Given the description of an element on the screen output the (x, y) to click on. 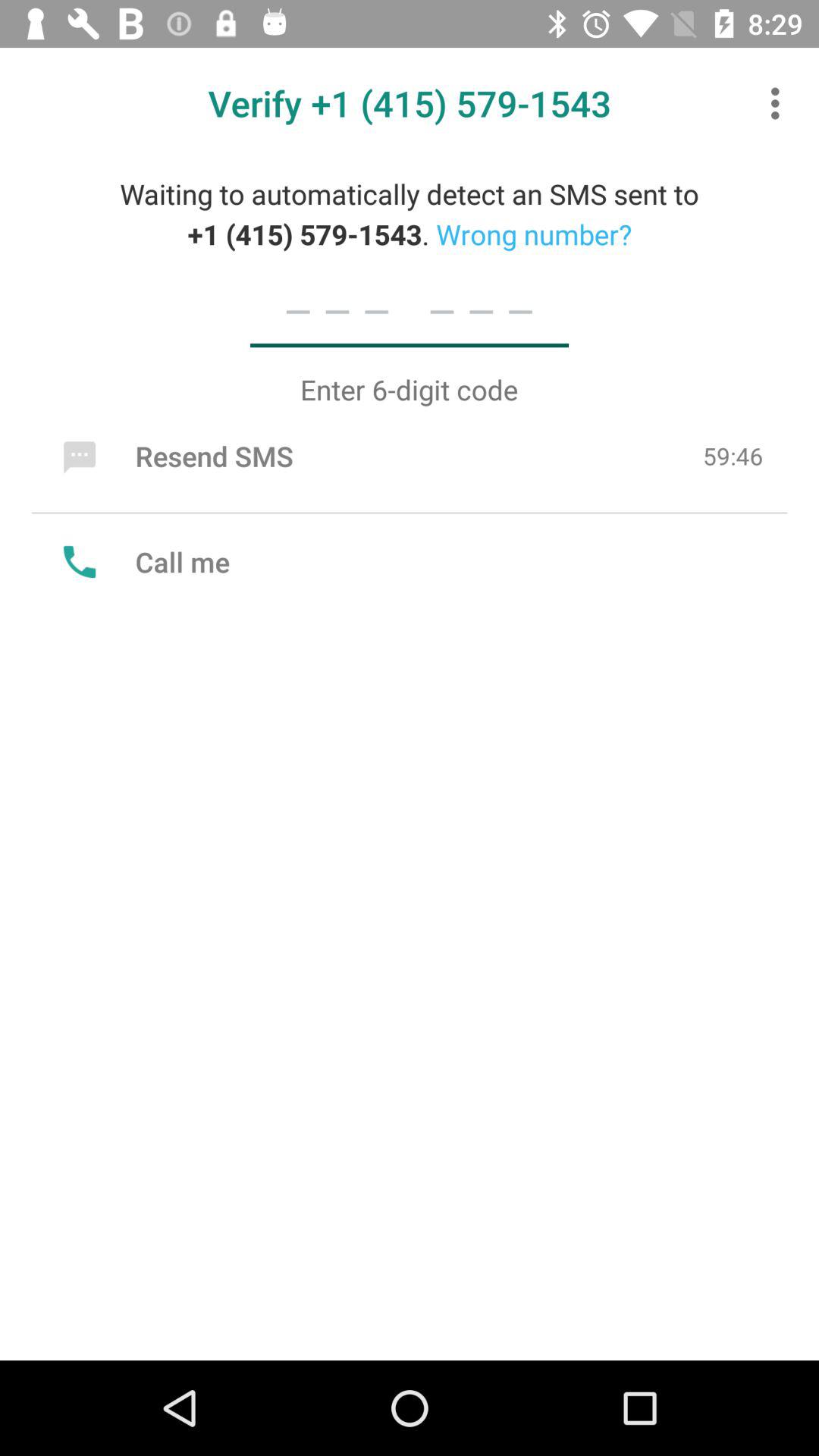
flip to resend sms item (174, 455)
